Given the description of an element on the screen output the (x, y) to click on. 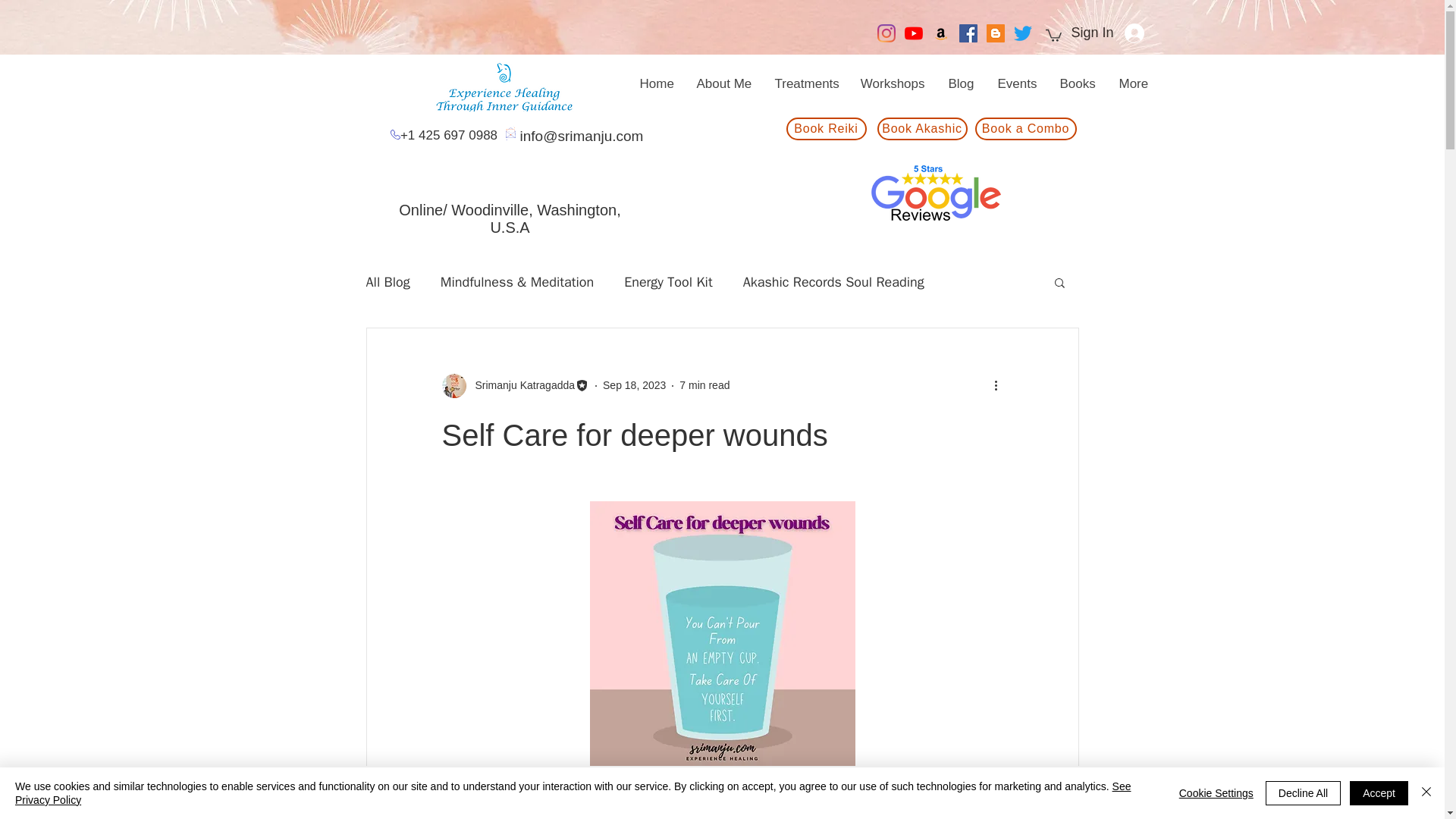
About Me (722, 83)
Book a Combo (1026, 128)
Book Reiki (826, 128)
Srimanju Katragadda (520, 385)
All Blog (387, 281)
Blog (960, 83)
Events (1016, 83)
Sep 18, 2023 (633, 385)
Experience Healing with Srimanju (506, 83)
7 min read (704, 385)
Sign In (1106, 32)
Home (655, 83)
Book Akashic (921, 128)
Books (1077, 83)
Treatments (805, 83)
